Given the description of an element on the screen output the (x, y) to click on. 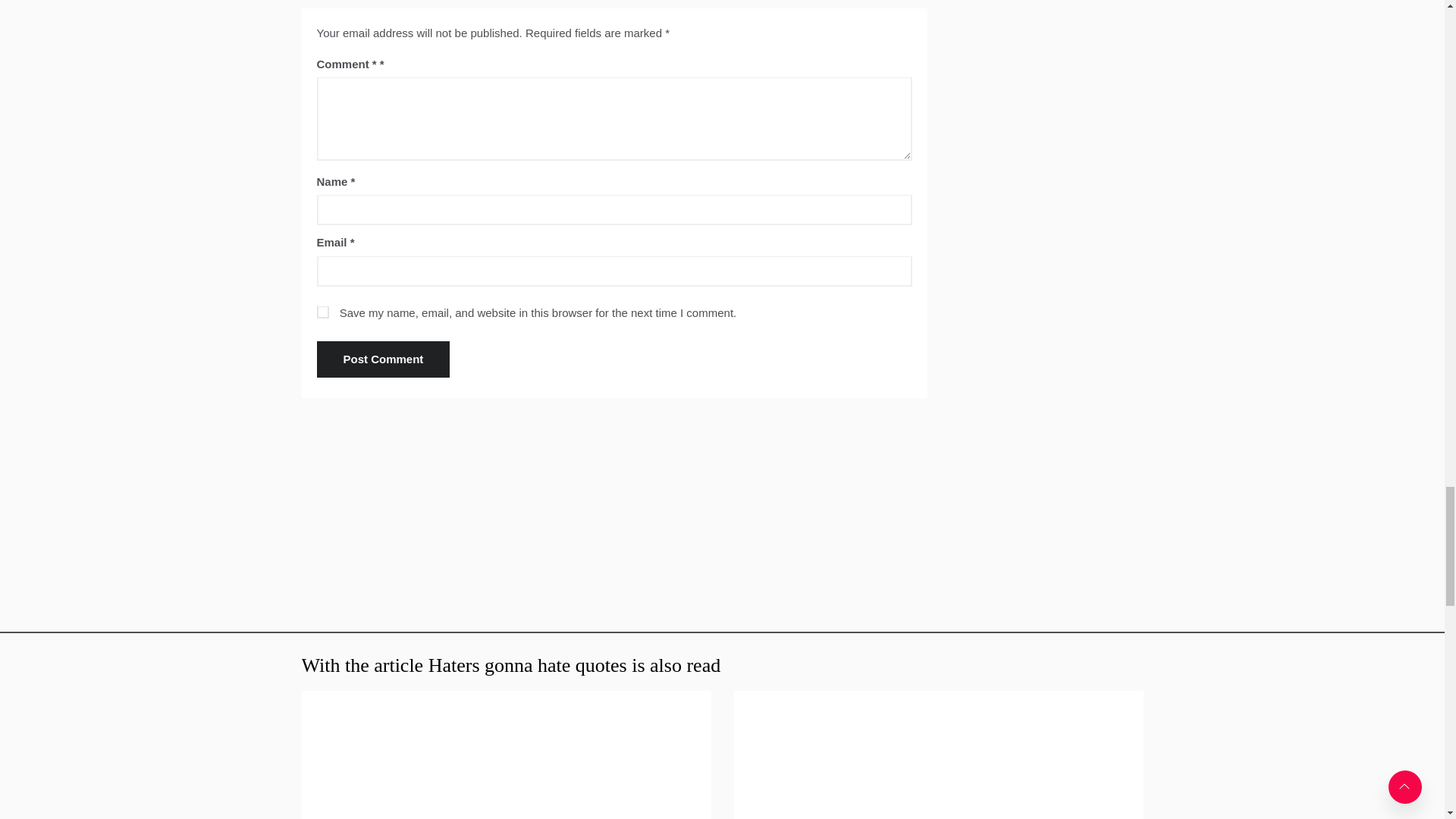
yes (323, 312)
Post Comment (383, 359)
Post Comment (383, 359)
